Given the description of an element on the screen output the (x, y) to click on. 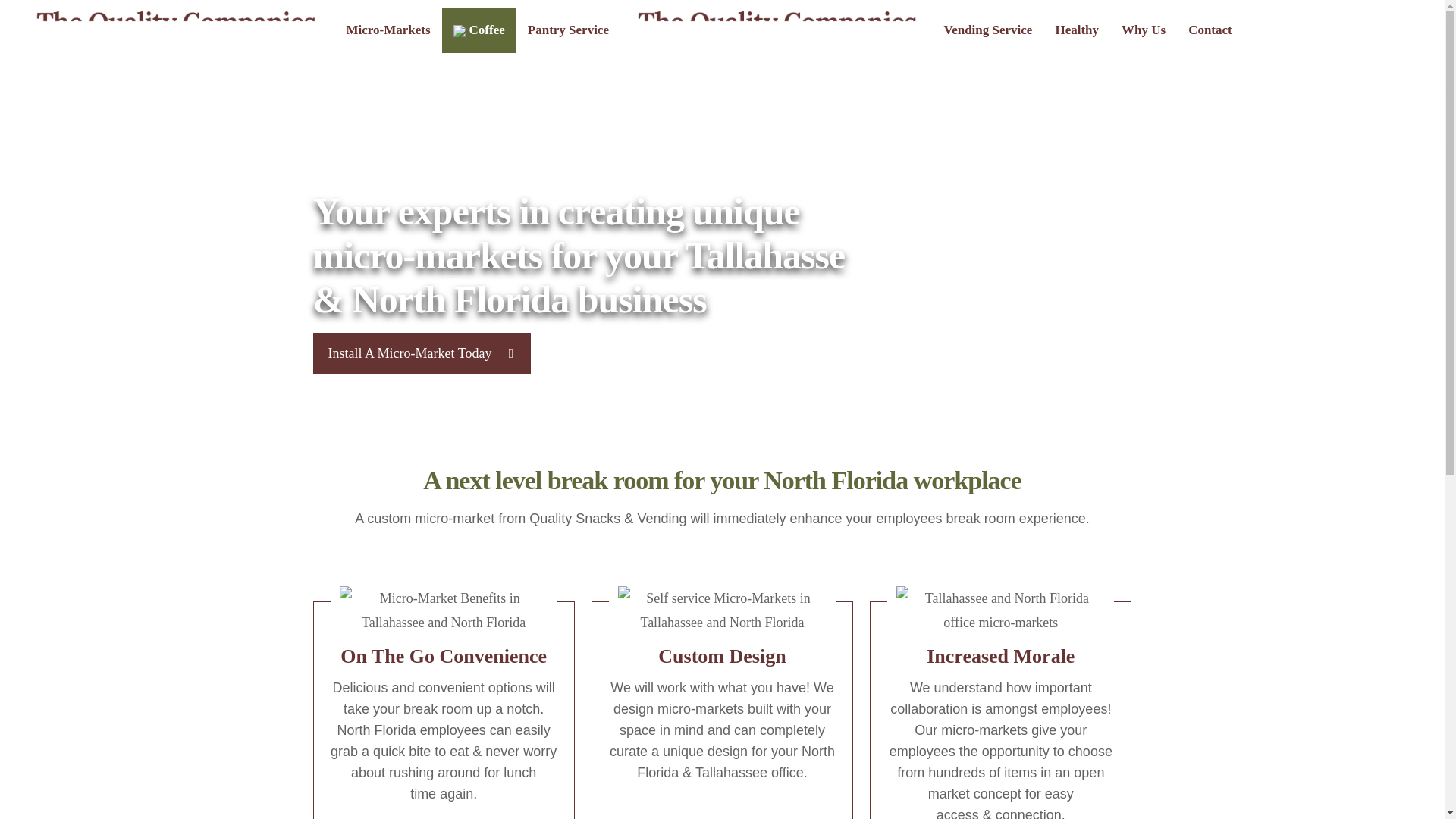
Healthy (1076, 30)
Vending Service (987, 30)
Install A Micro-Market Today (422, 352)
Contact (1209, 30)
Micro-Markets (388, 30)
Coffee (479, 30)
Why Us (1142, 30)
Pantry Service (568, 30)
